Given the description of an element on the screen output the (x, y) to click on. 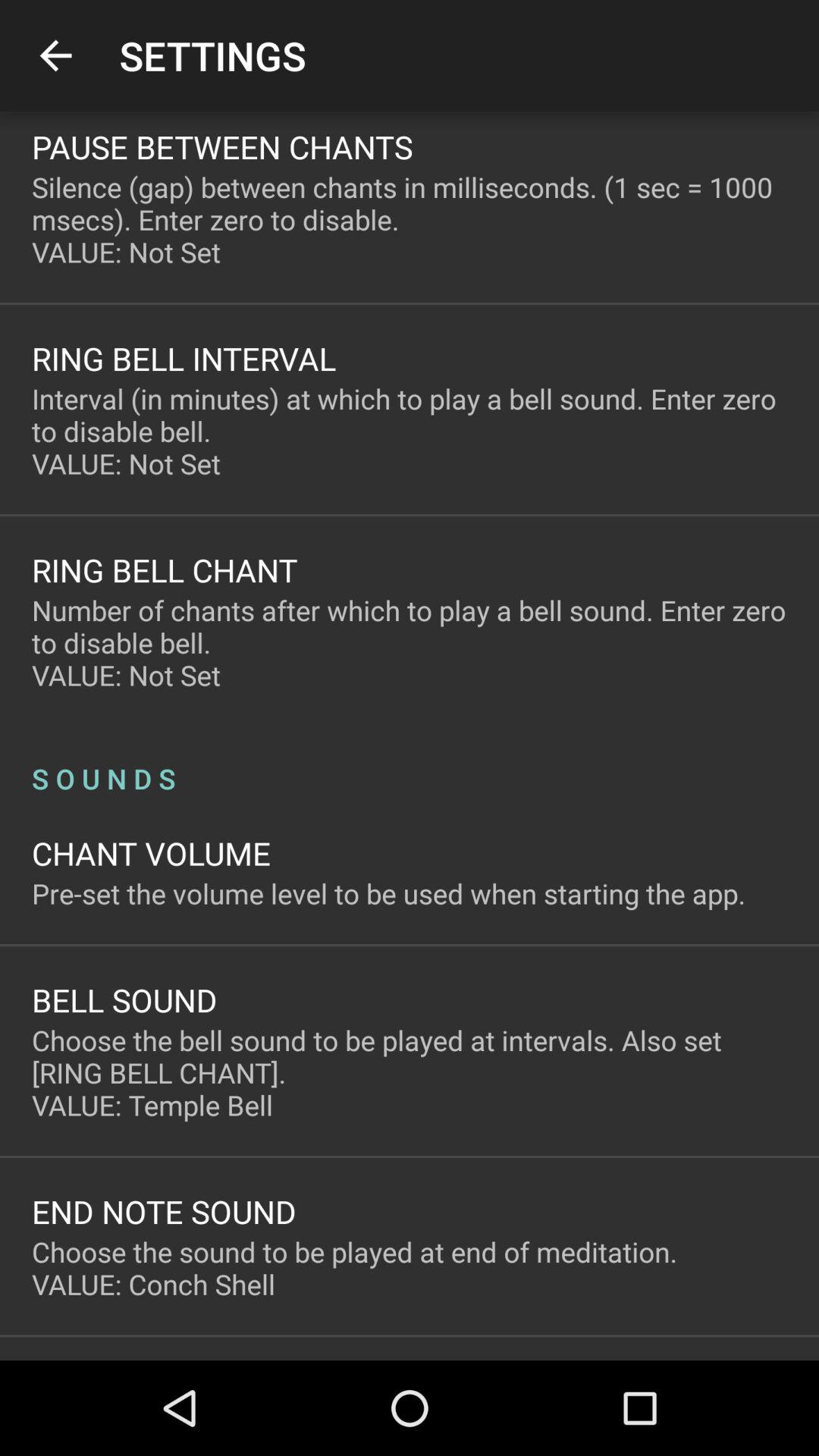
jump to number of chants item (409, 642)
